Given the description of an element on the screen output the (x, y) to click on. 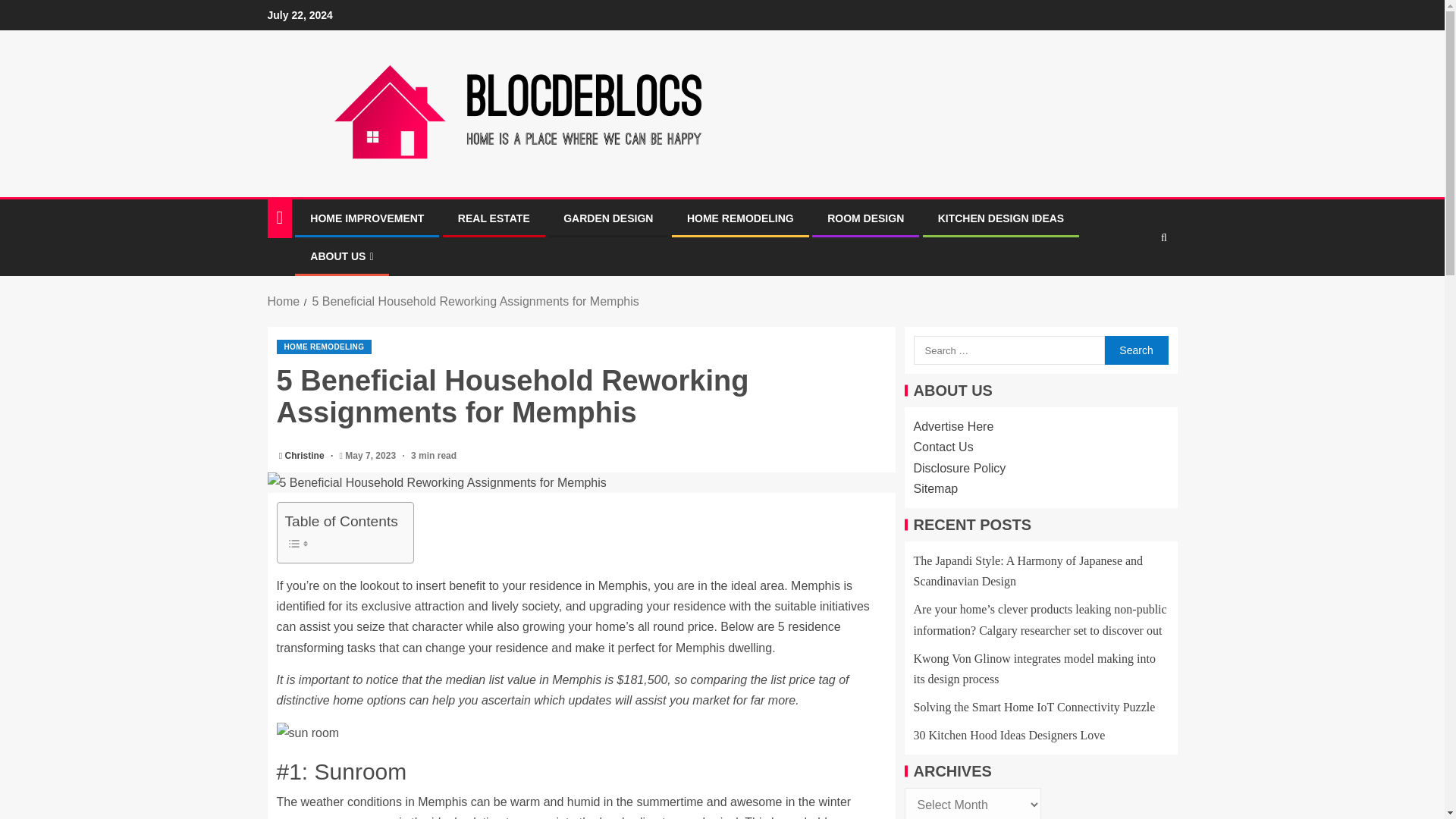
Search (1135, 349)
HOME REMODELING (323, 346)
Search (1163, 237)
GARDEN DESIGN (607, 218)
5 Beneficial Household Reworking Assignments for Memphis (475, 300)
Search (1135, 349)
HOME REMODELING (740, 218)
REAL ESTATE (493, 218)
KITCHEN DESIGN IDEAS (1000, 218)
ROOM DESIGN (865, 218)
Search (1133, 284)
HOME IMPROVEMENT (366, 218)
Home (282, 300)
ABOUT US (341, 256)
Christine (305, 455)
